Given the description of an element on the screen output the (x, y) to click on. 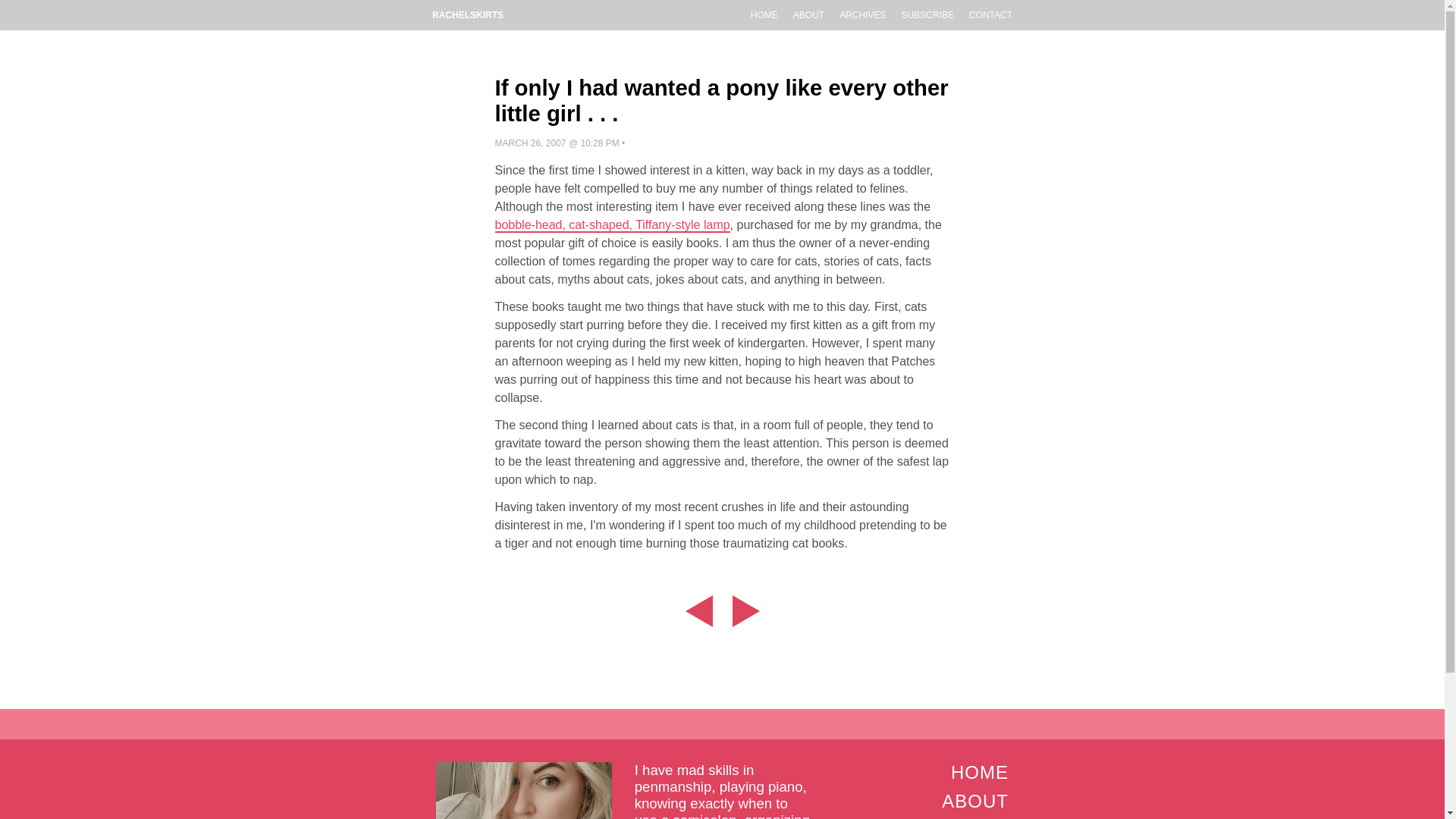
ARCHIVES (862, 15)
RACHELSKIRTS (468, 15)
SUBSCRIBE (926, 15)
HOME (764, 15)
ABOUT (975, 801)
HOME (979, 772)
ABOUT (808, 15)
CONTACT (990, 15)
bobble-head, cat-shaped, Tiffany-style lamp (612, 225)
